Given the description of an element on the screen output the (x, y) to click on. 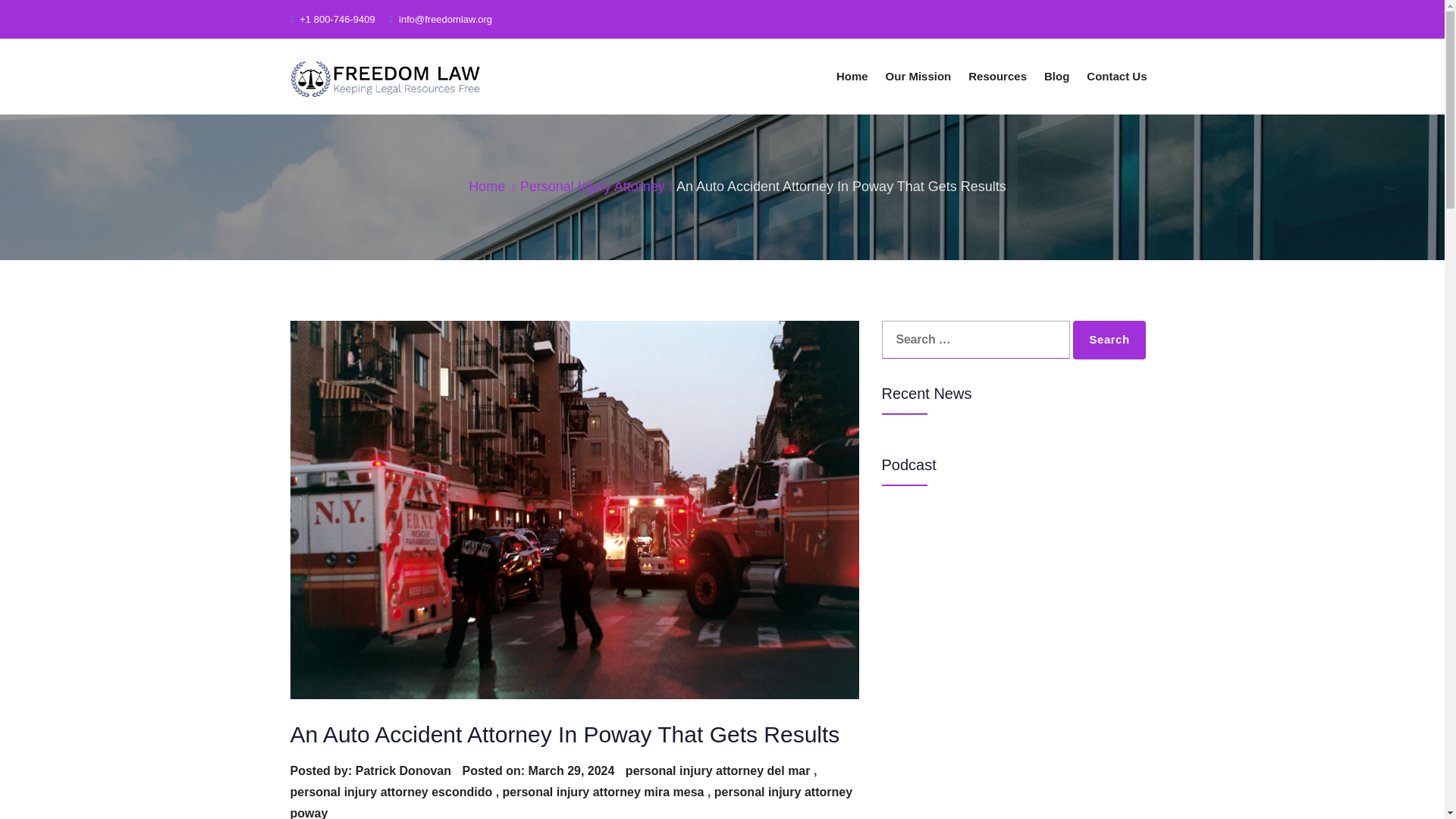
Personal Injury Attorney (592, 186)
Blog (1056, 76)
personal injury attorney del mar (718, 770)
Home (852, 76)
personal injury attorney escondido (390, 791)
personal injury attorney mira mesa (603, 791)
Posted on: March 29, 2024 (539, 770)
Search (1109, 339)
personal injury attorney poway (570, 802)
Contact Us (1116, 76)
Our Mission (918, 76)
Resources (996, 76)
Posted by: Patrick Donovan (370, 770)
Home (486, 186)
